Given the description of an element on the screen output the (x, y) to click on. 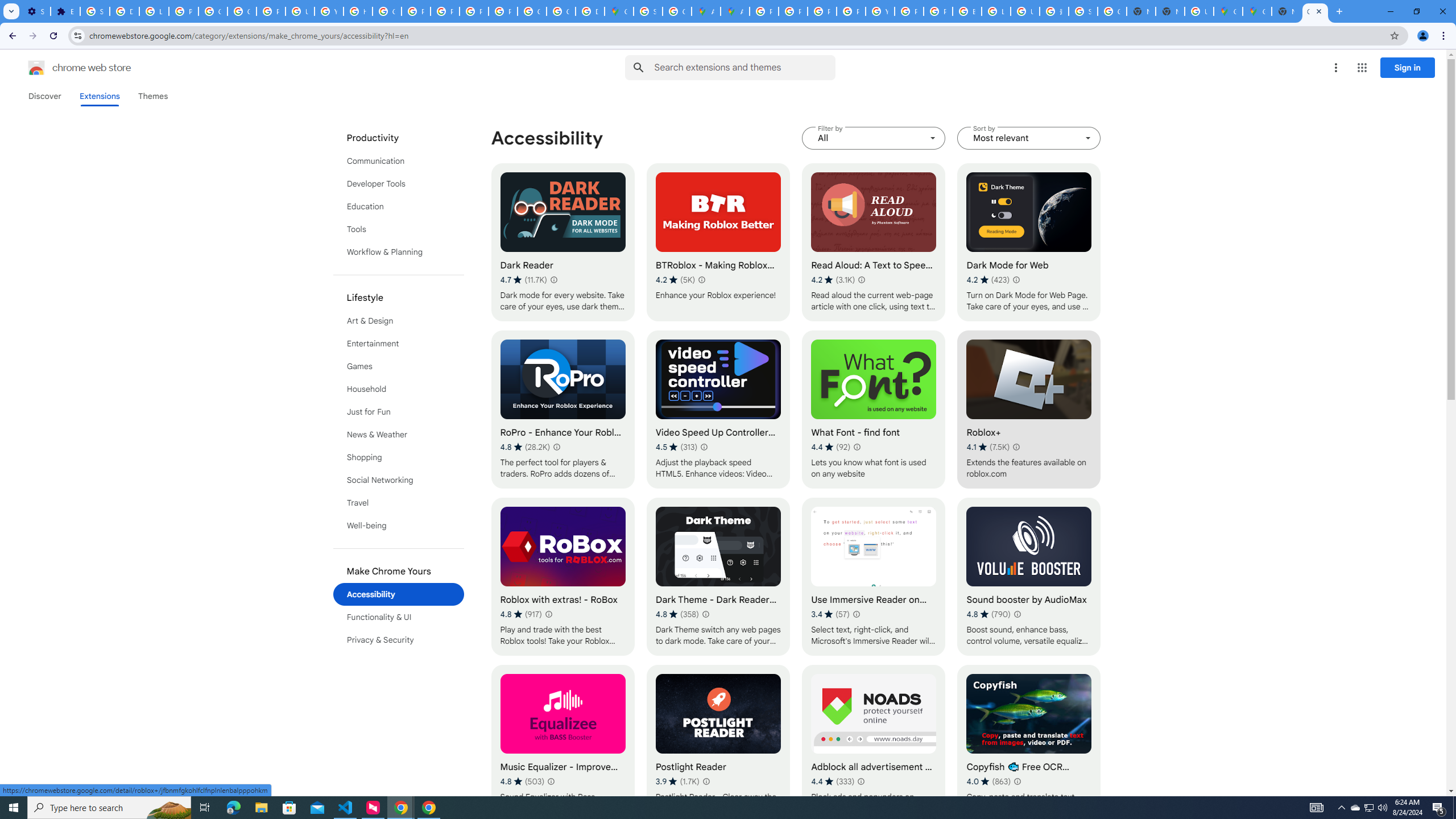
Filter by All (874, 137)
Art & Design (398, 320)
Roblox with extras! - RoBox (562, 576)
Delete photos & videos - Computer - Google Photos Help (124, 11)
Learn more about results and reviews "What Font - find font" (856, 446)
Tools (398, 228)
Dark Reader (562, 241)
Google Maps (1256, 11)
Use Google Maps in Space - Google Maps Help (1198, 11)
Learn more about results and reviews "Postlight Reader" (705, 780)
Create your Google Account (677, 11)
